Given the description of an element on the screen output the (x, y) to click on. 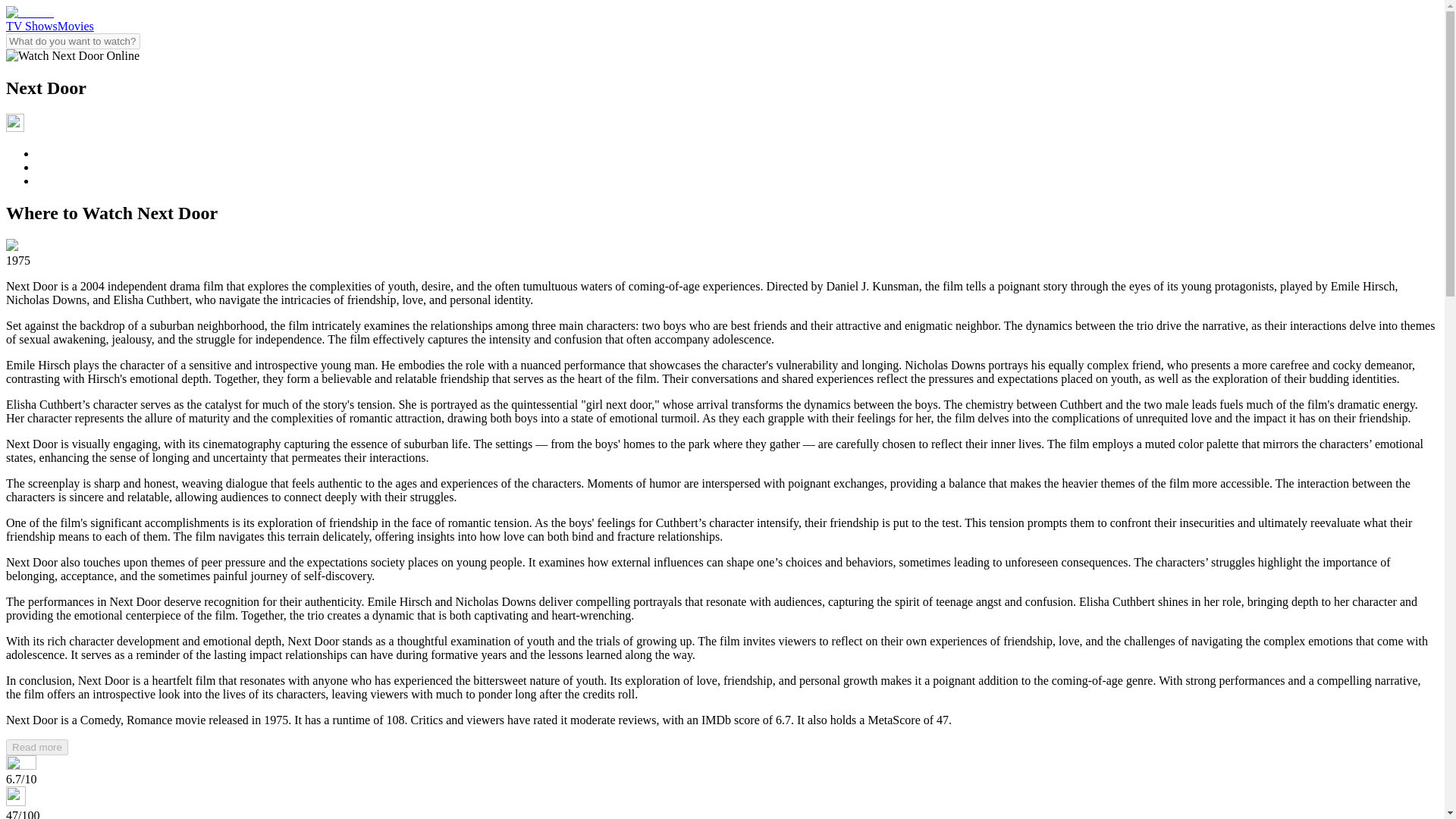
Movies (76, 25)
TV Shows (31, 25)
Read more (36, 747)
